Given the description of an element on the screen output the (x, y) to click on. 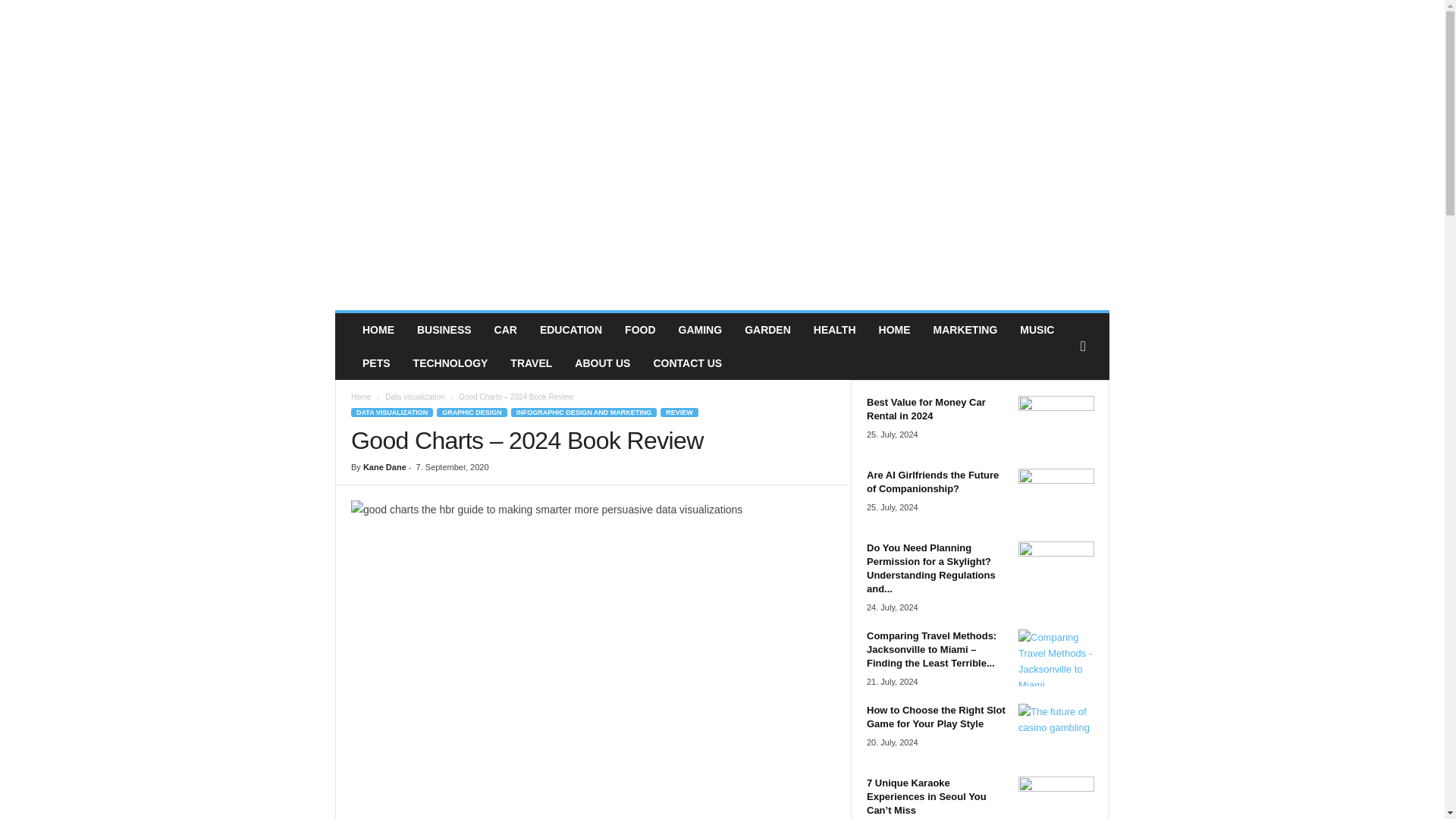
GRAPHIC DESIGN (471, 411)
View all posts in Data visualization (414, 397)
Home (360, 397)
BUSINESS (444, 329)
MARKETING (965, 329)
HOME (894, 329)
PETS (375, 363)
GAMING (699, 329)
HOME (378, 329)
FOOD (639, 329)
TRAVEL (531, 363)
CAR (505, 329)
ABOUT US (602, 363)
